Given the description of an element on the screen output the (x, y) to click on. 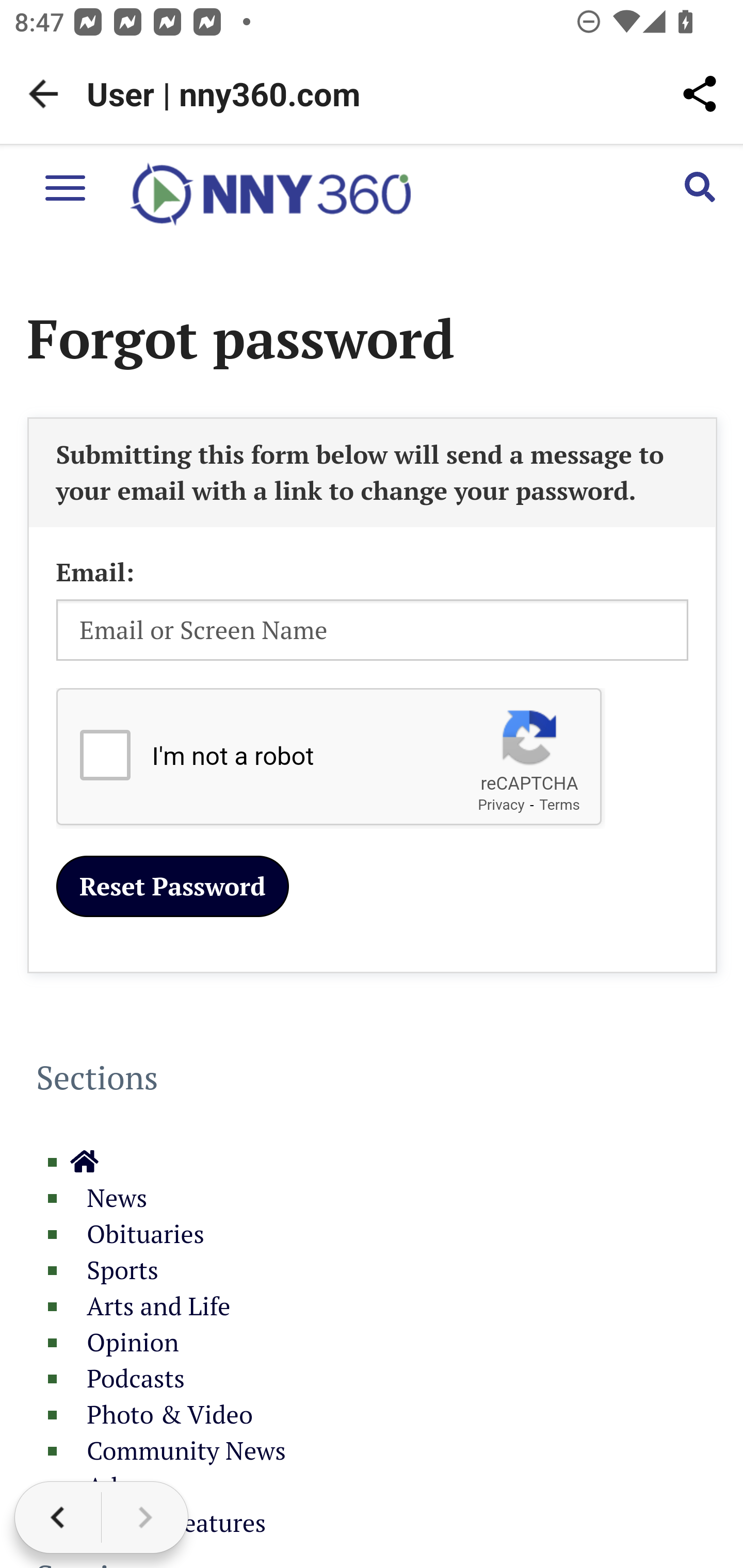
Left Main Menu (64, 187)
www.nny360 (270, 195)
I'm not a robot (104, 754)
Reset Password (172, 887)
Home (84, 1162)
News (107, 1198)
Obituaries (136, 1234)
Sports (114, 1270)
Arts and Life (149, 1306)
Opinion (124, 1342)
Podcasts (126, 1379)
Photo & Video (160, 1415)
Community News (177, 1451)
